Given the description of an element on the screen output the (x, y) to click on. 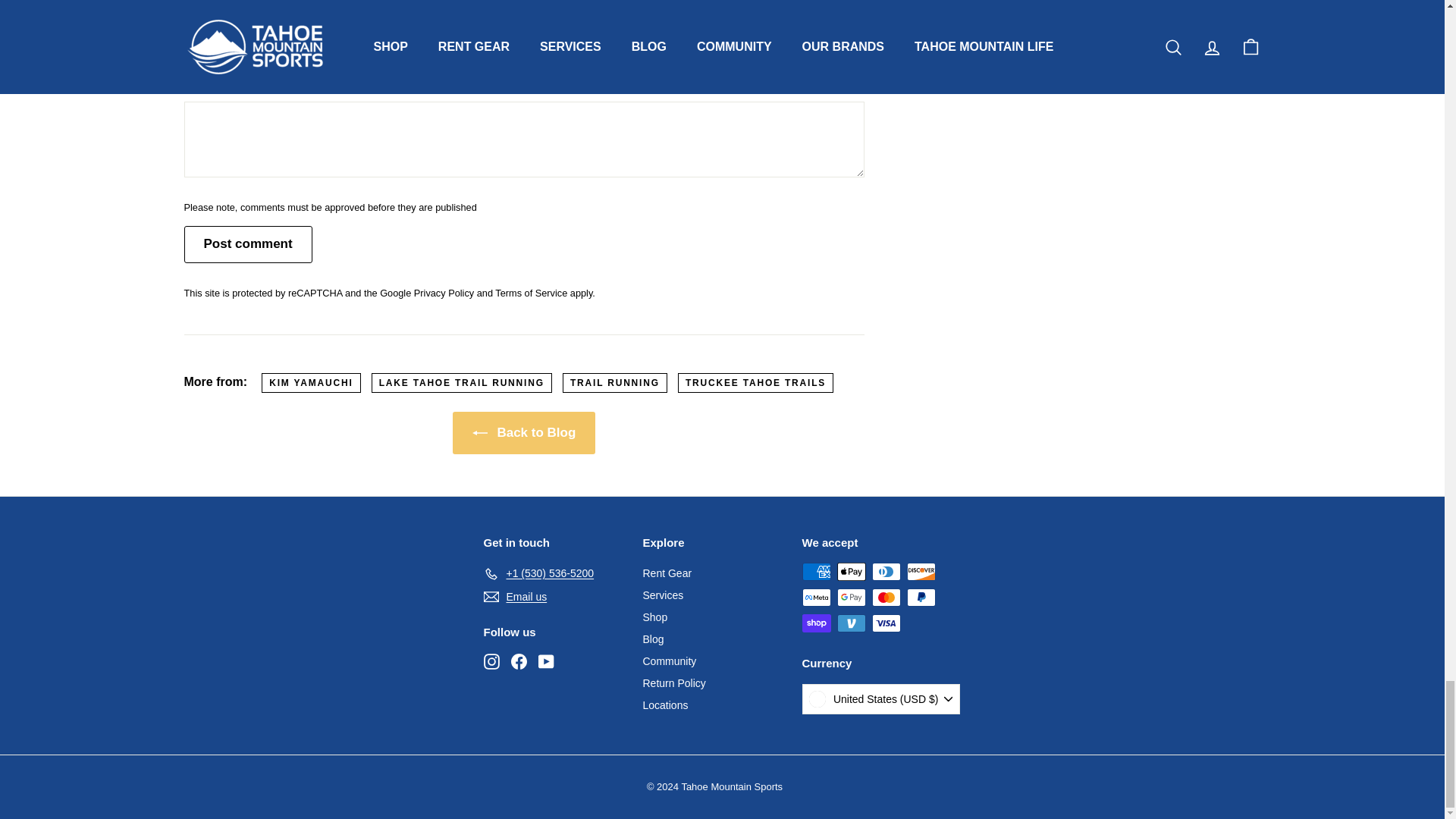
American Express (816, 571)
Google Pay (851, 597)
Tahoe Mountain Sports on Facebook (519, 660)
PayPal (921, 597)
Meta Pay (816, 597)
Tahoe Mountain Sports on Instagram (491, 660)
Discover (921, 571)
Apple Pay (851, 571)
Mastercard (886, 597)
Diners Club (886, 571)
